Given the description of an element on the screen output the (x, y) to click on. 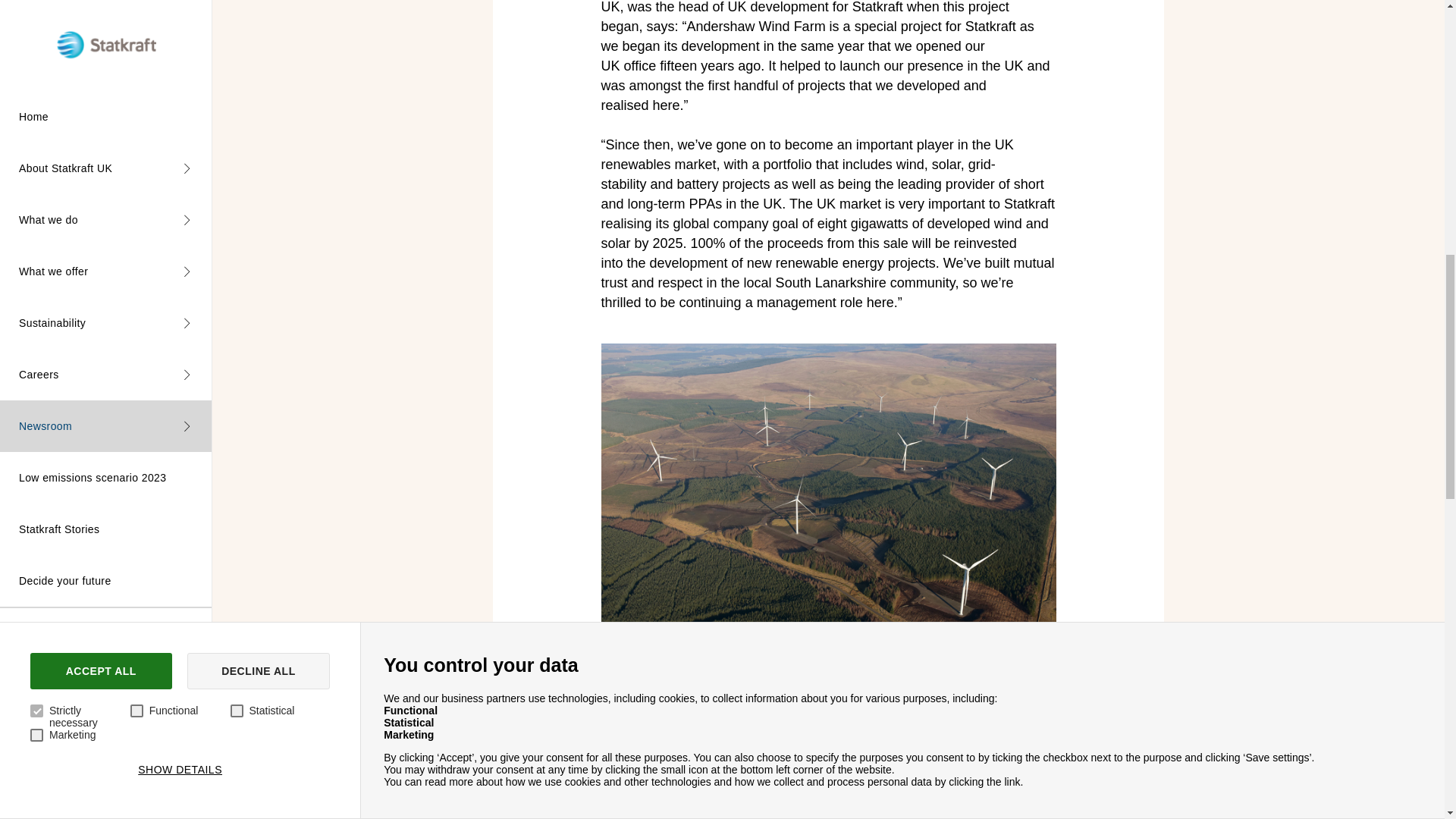
CookieInformationConsent (1157, 91)
7 days (983, 184)
Microsoft Azure (462, 141)
a year (983, 91)
ARRAffinity (1157, 141)
COOKIE POLICY (90, 27)
www.smartrecruiters.com (1331, 184)
READ MORE ABOUT COOKIES (270, 27)
Required for the website to perform properly. (636, 141)
Amazon Web Services (462, 222)
.www.statkraft.co.uk (1331, 141)
Session (983, 141)
Amazon Web Services (462, 184)
AWSALB (1157, 184)
Cookie Information (462, 91)
